Given the description of an element on the screen output the (x, y) to click on. 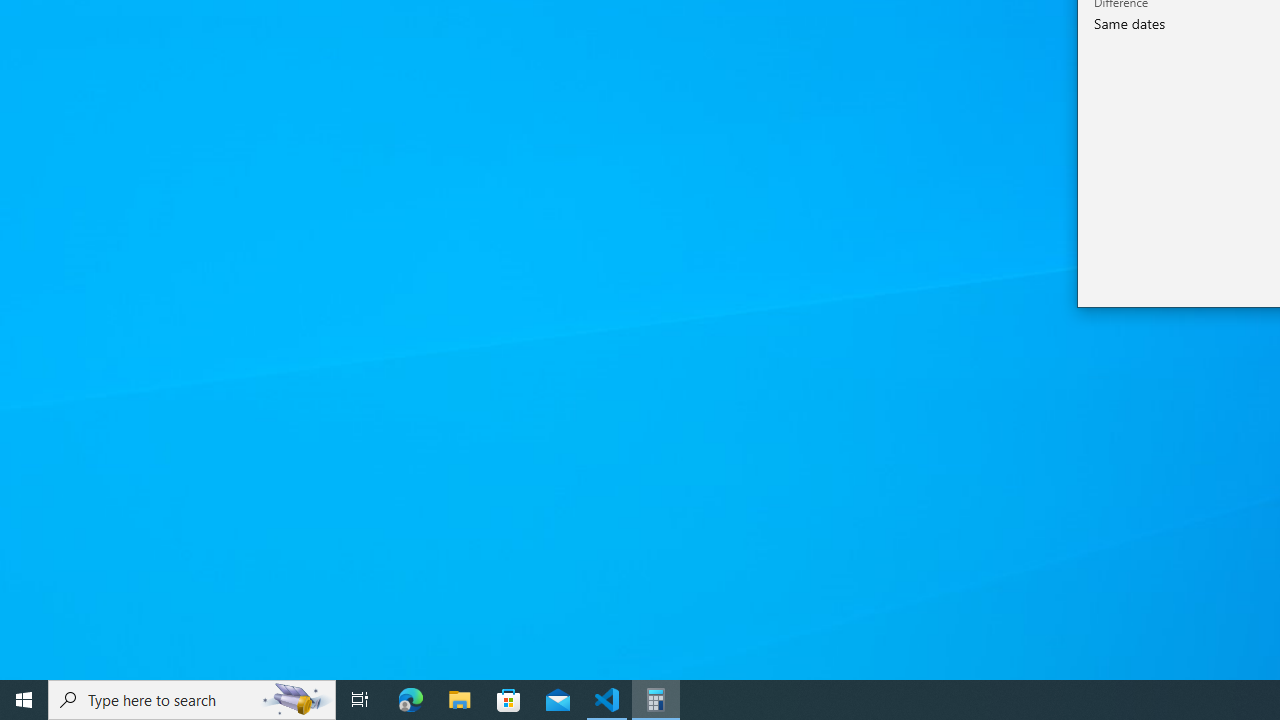
Calculator - 1 running window (656, 699)
